Given the description of an element on the screen output the (x, y) to click on. 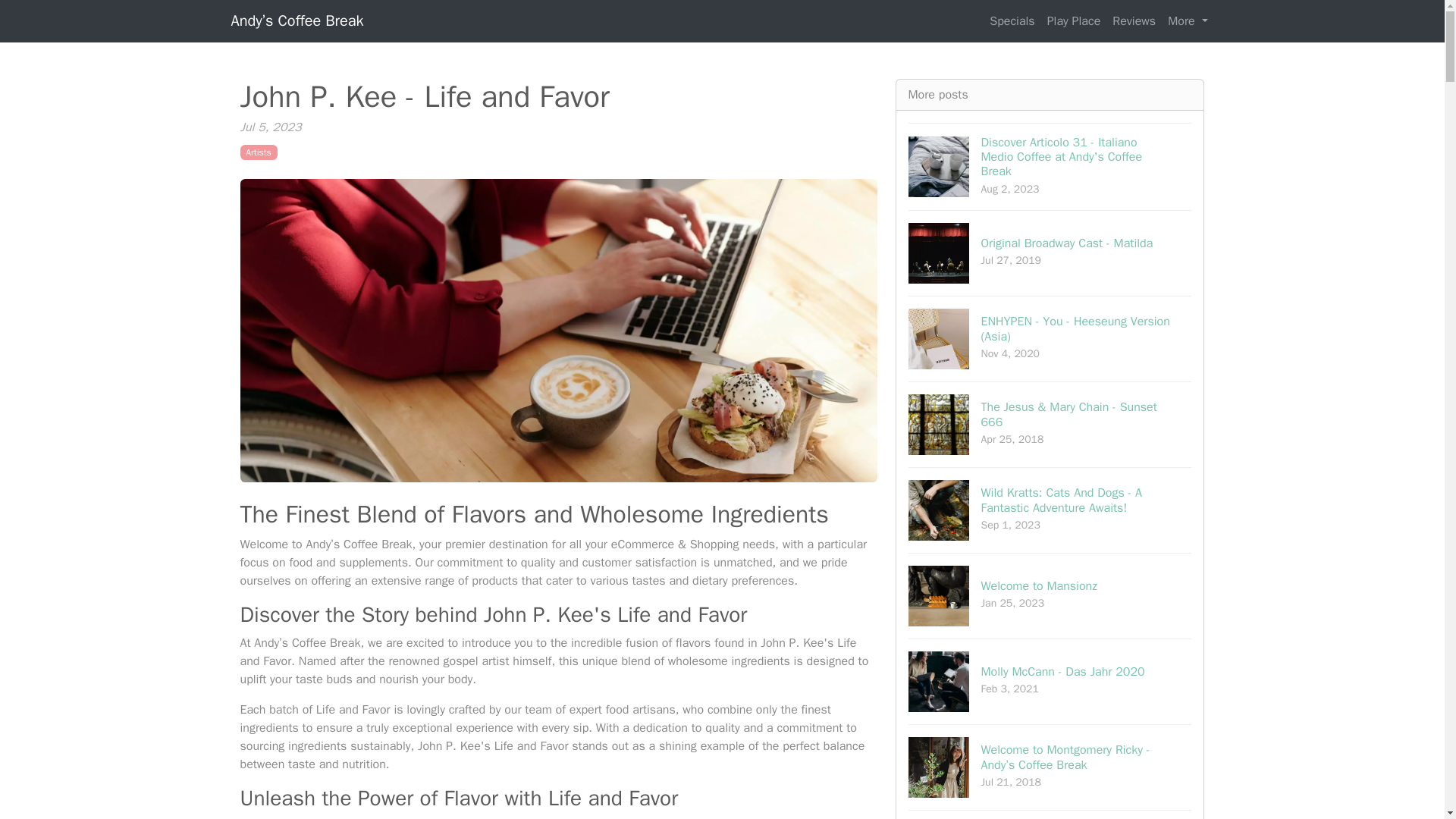
Play Place (1073, 20)
Specials (1012, 20)
More (1186, 20)
Artists (258, 151)
Reviews (1050, 252)
